Given the description of an element on the screen output the (x, y) to click on. 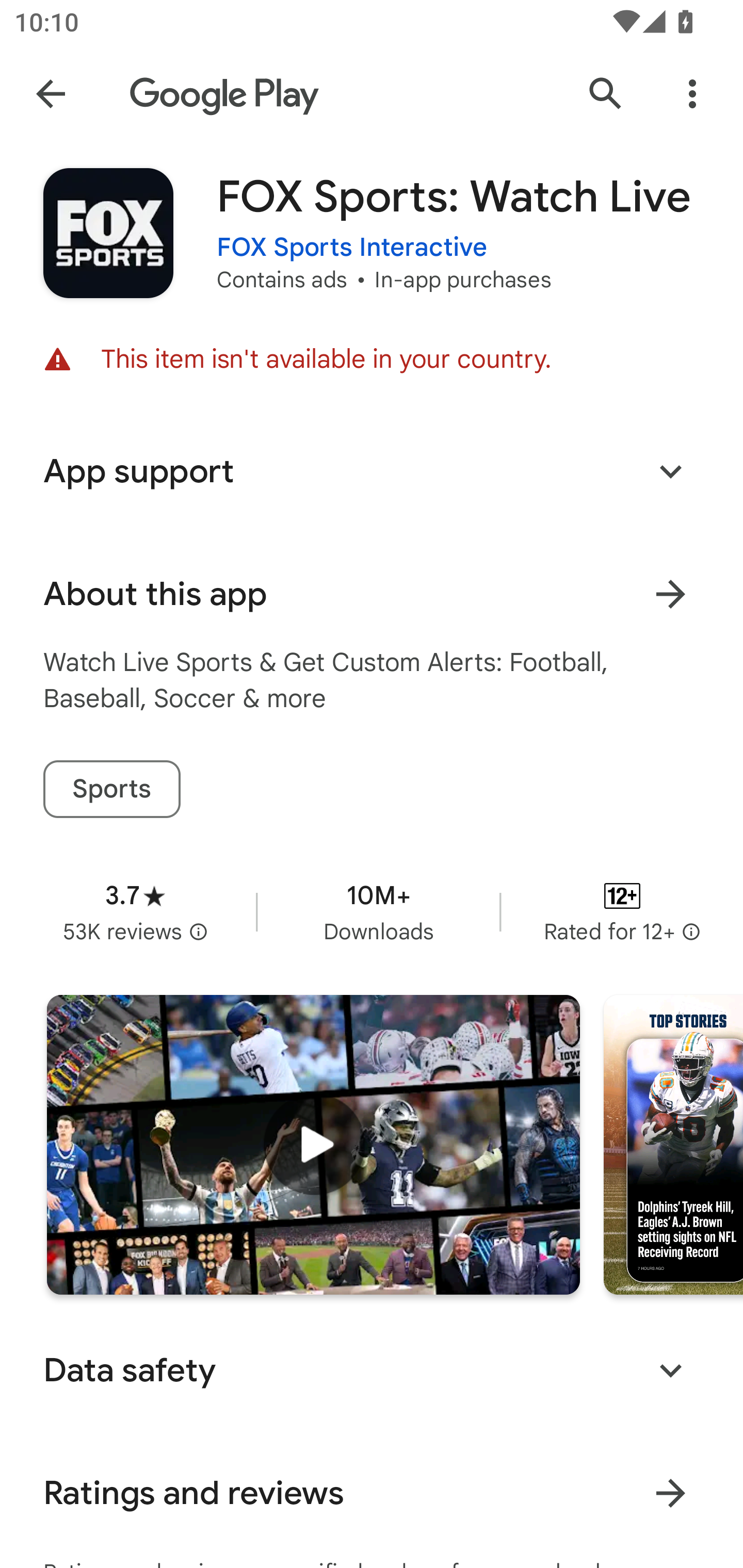
Navigate up (50, 93)
Search Google Play (605, 93)
More Options (692, 93)
FOX Sports Interactive (351, 247)
App support Expand (371, 471)
Expand (670, 471)
About this app Learn more About this app (371, 594)
Learn more About this app (670, 594)
Sports tag (111, 789)
Average rating 3.7 stars in 53 thousand reviews (135, 911)
Content rating Rated for 12+ (622, 911)
Play trailer for "FOX Sports: Watch Live" (313, 1145)
Data safety Expand (371, 1370)
Expand (670, 1370)
Ratings and reviews View all ratings and reviews (371, 1493)
View all ratings and reviews (670, 1493)
